Given the description of an element on the screen output the (x, y) to click on. 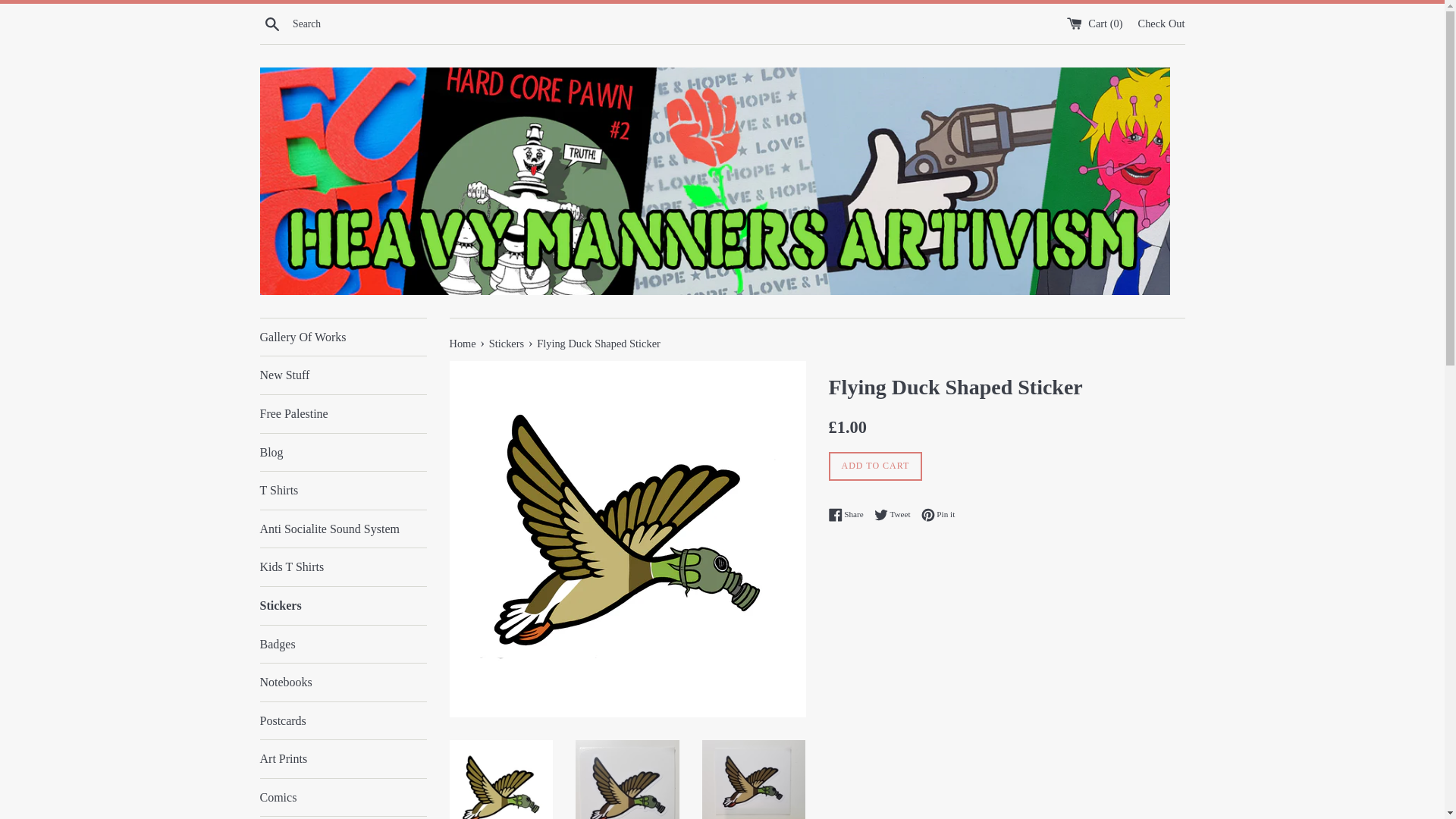
Gallery Of Works (342, 337)
Check Out (1161, 22)
T Shirts (342, 490)
Home (463, 343)
New Stuff (342, 374)
Blog (342, 452)
Postcards (342, 720)
Comics (342, 797)
ADD TO CART (874, 465)
Small Stuff (342, 817)
